Given the description of an element on the screen output the (x, y) to click on. 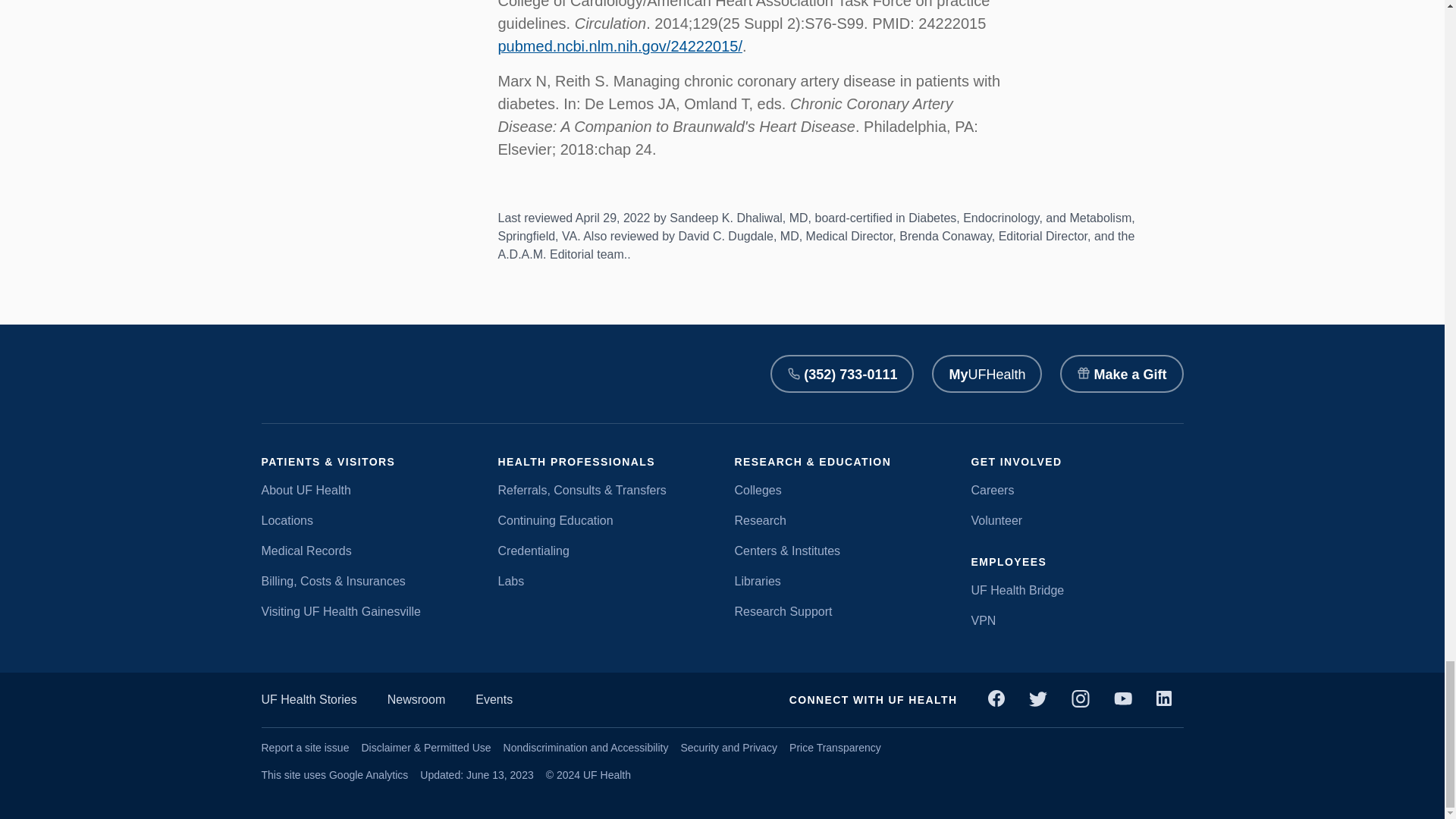
University of Florida (452, 373)
About UF Health (366, 490)
MyUFHealth (986, 373)
Visiting UF Health Gainesville (366, 611)
Medical Records (366, 551)
Locations (366, 520)
Continuing Education (603, 520)
Make a Gift (1120, 373)
University of Florida Health (310, 374)
